Given the description of an element on the screen output the (x, y) to click on. 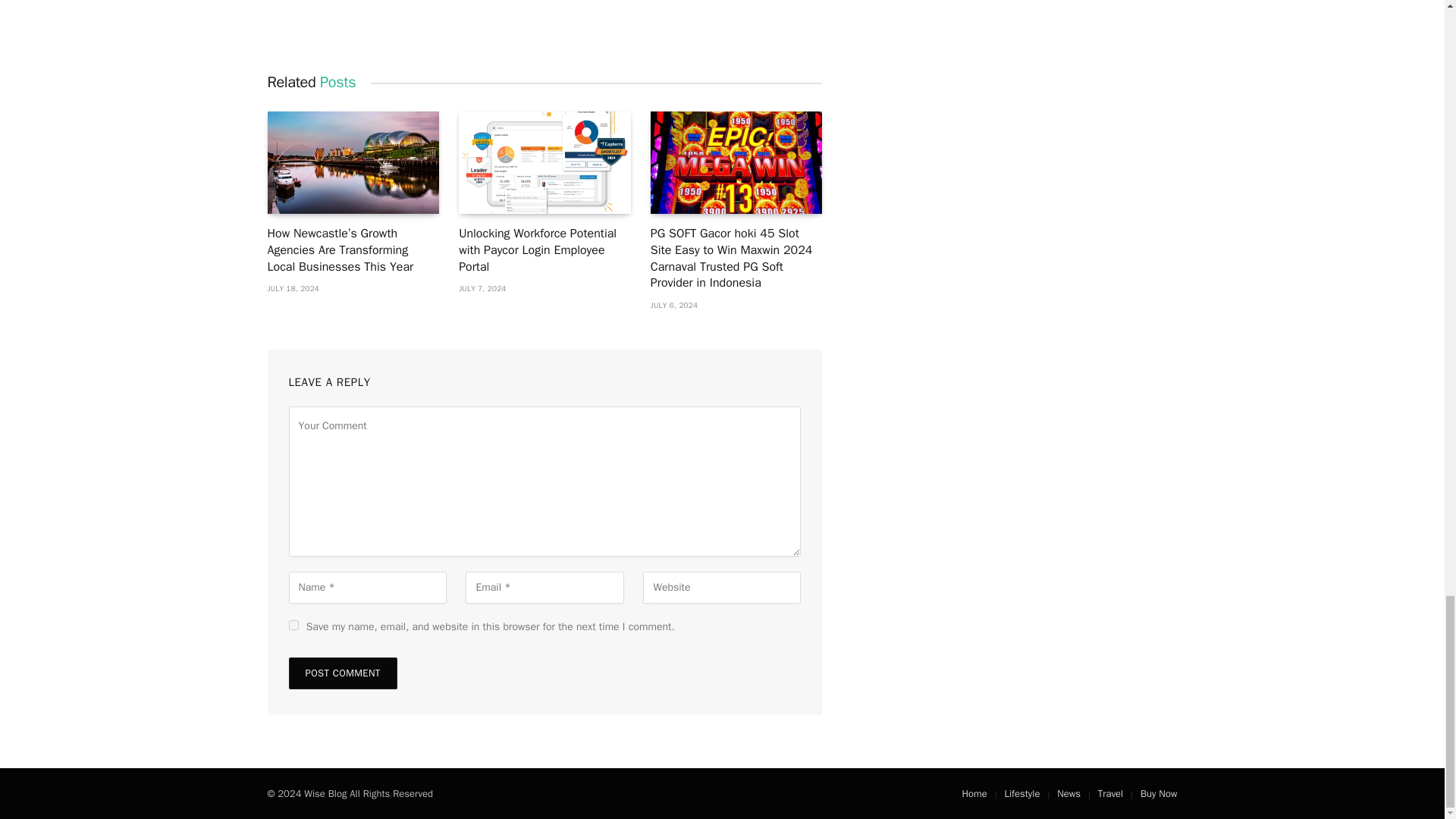
Post Comment (342, 673)
yes (293, 624)
